Given the description of an element on the screen output the (x, y) to click on. 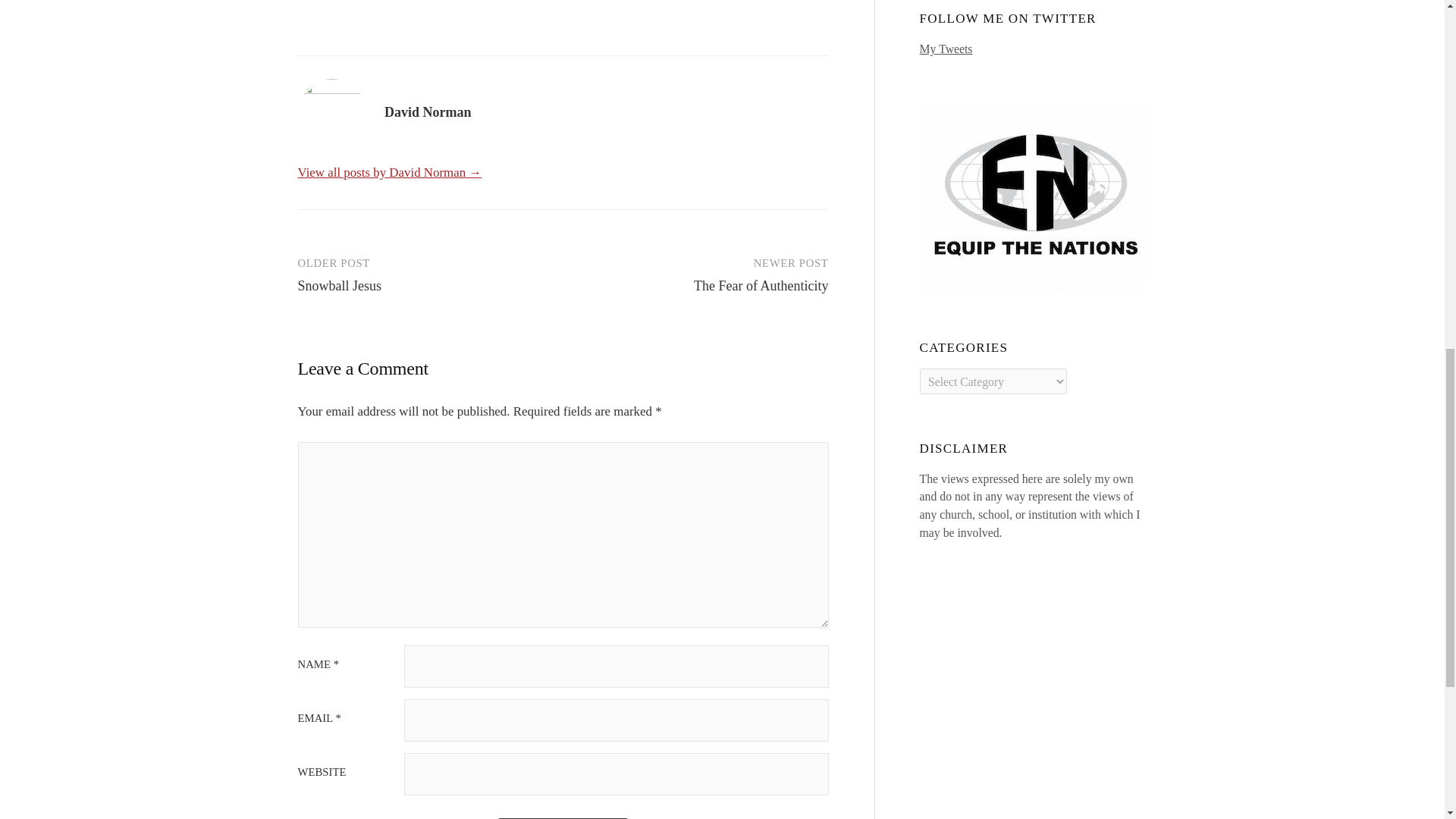
The Fear of Authenticity (761, 285)
Snowball Jesus (339, 285)
My Tweets (946, 48)
